Given the description of an element on the screen output the (x, y) to click on. 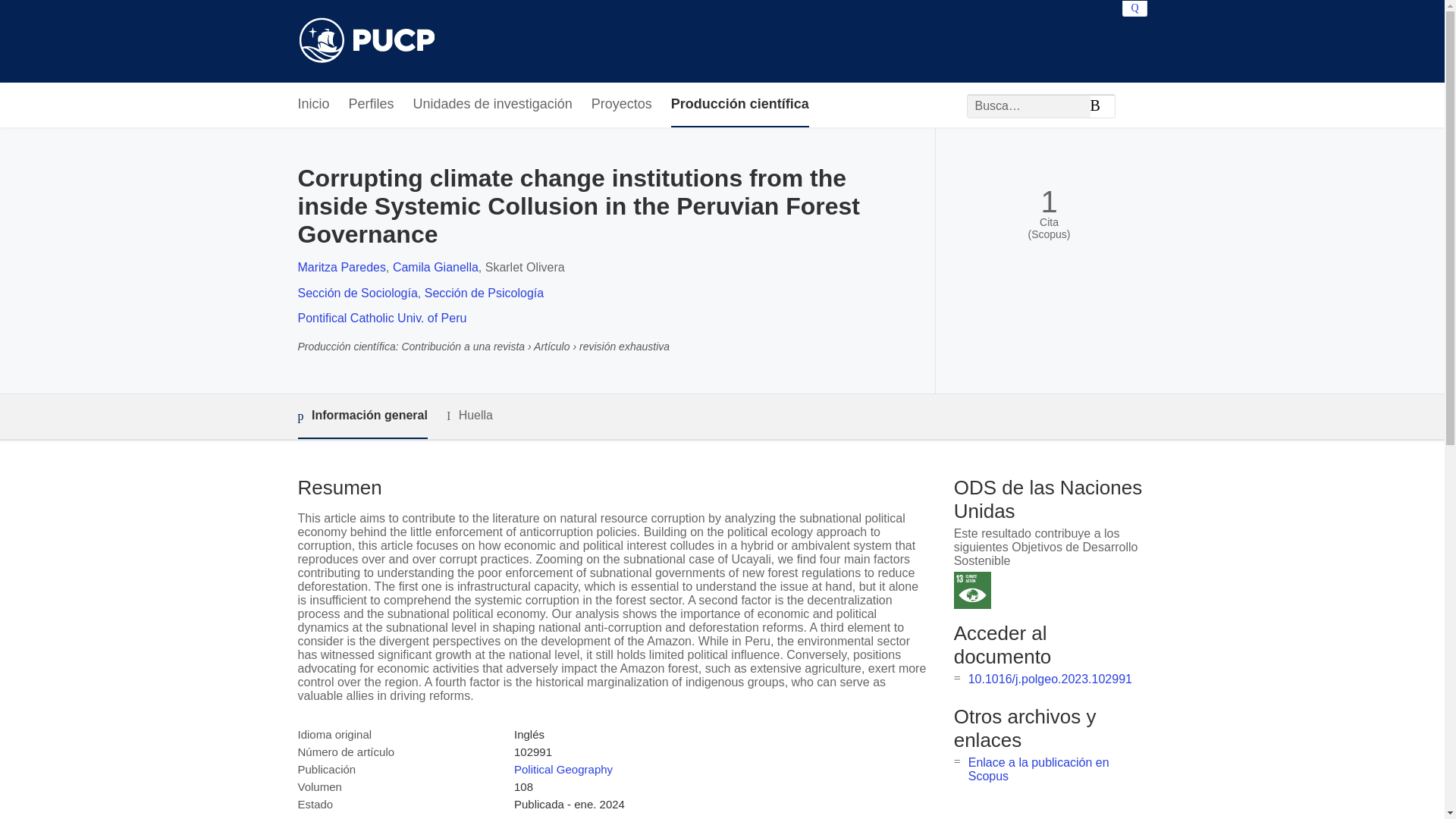
Camila Gianella (436, 267)
Perfiles (371, 104)
Political Geography (562, 768)
Huella (469, 415)
Proyectos (621, 104)
Pontifical Catholic Univ. of Peru (381, 318)
Maritza Paredes (341, 267)
